Given the description of an element on the screen output the (x, y) to click on. 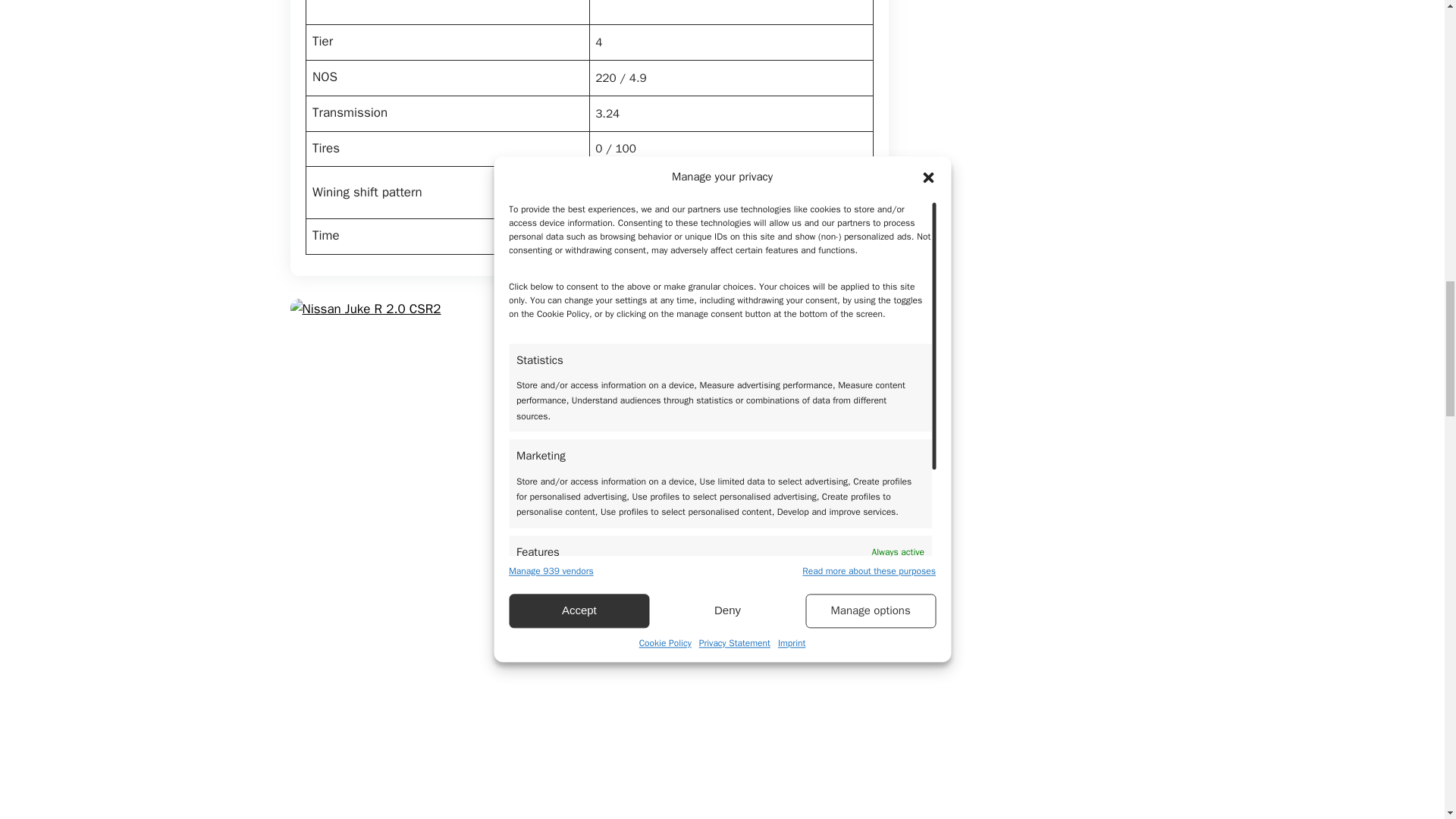
Nissan Juke R 2.0 CSR2, best tune and shift pattern 2 (437, 446)
